Given the description of an element on the screen output the (x, y) to click on. 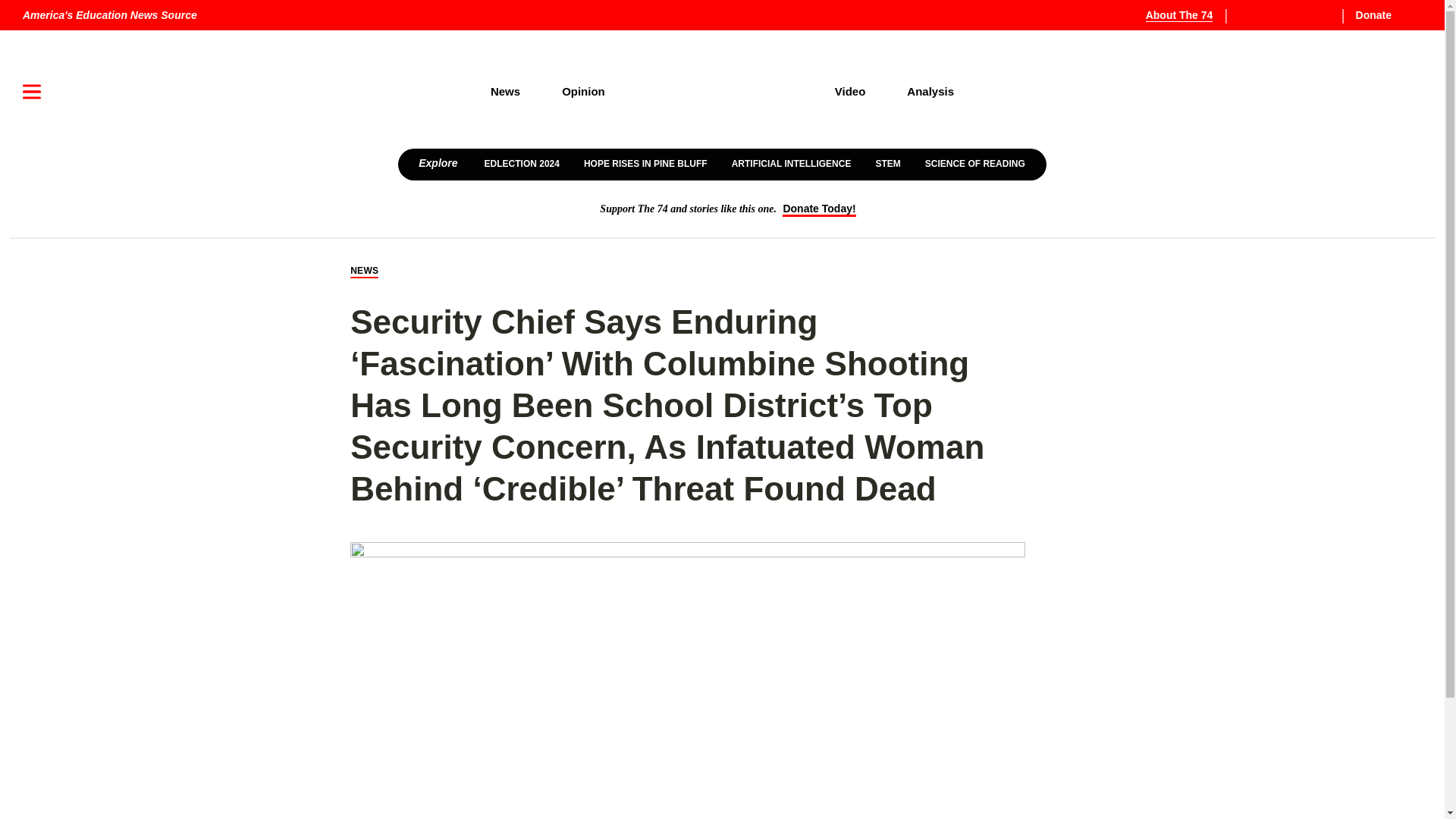
Donate (1385, 15)
Video (849, 91)
America's Education News Source (109, 15)
News (504, 91)
Opinion (583, 91)
Home (719, 91)
About The 74 (1187, 15)
Submit (1389, 139)
Analysis (930, 91)
